Given the description of an element on the screen output the (x, y) to click on. 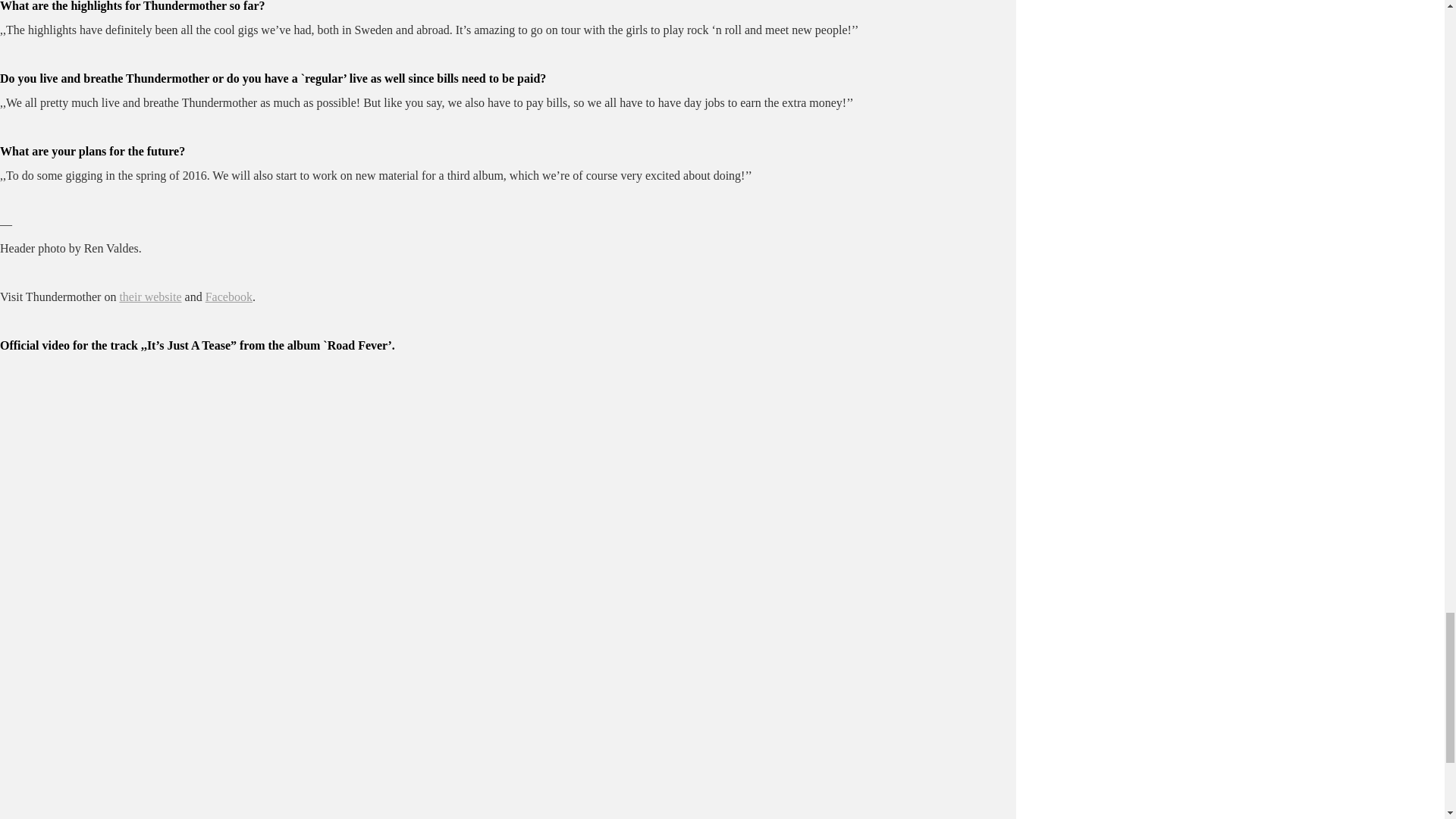
Facebook (228, 296)
their website (149, 296)
